Given the description of an element on the screen output the (x, y) to click on. 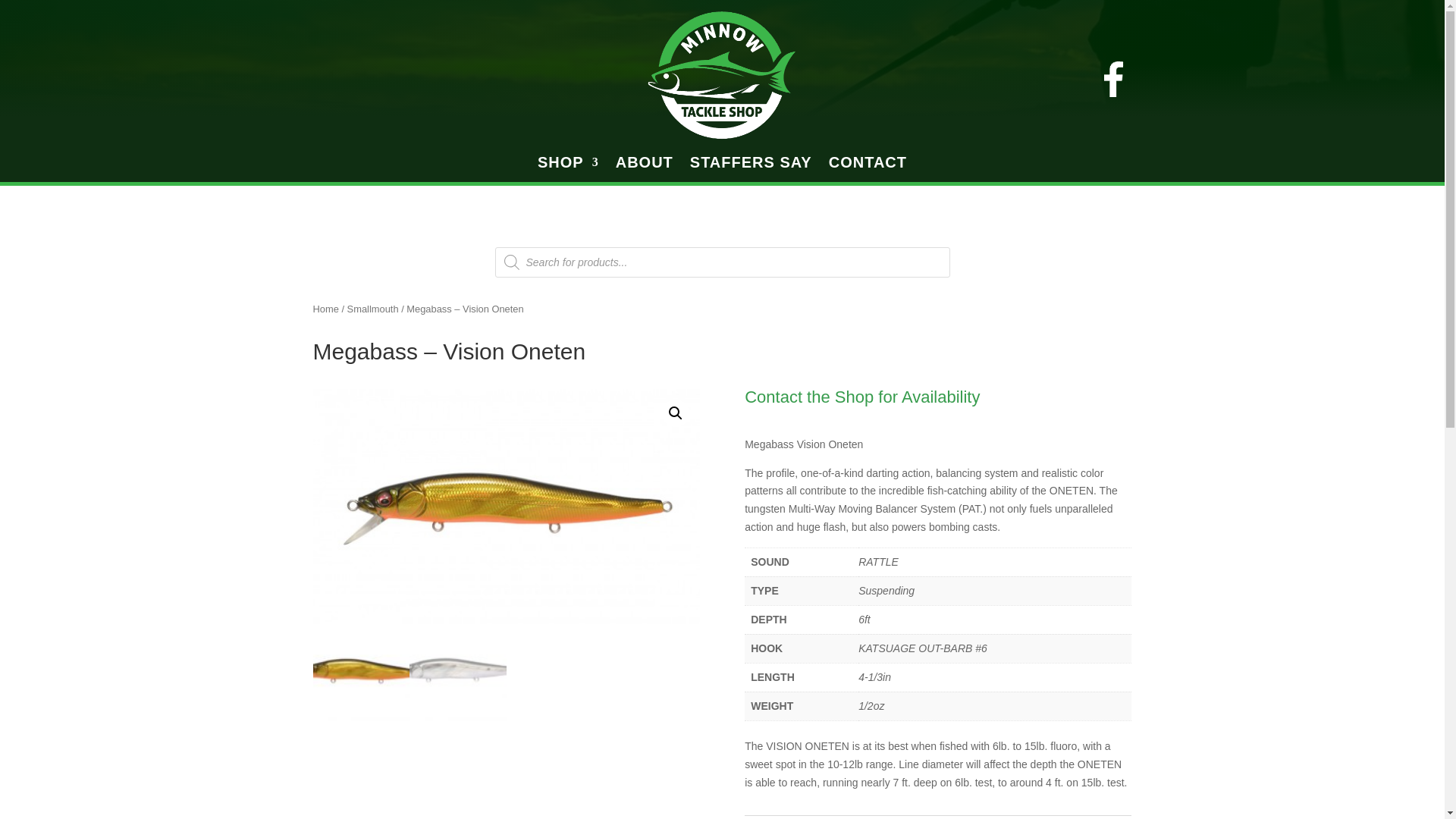
Header-Logo (722, 74)
CONTACT (867, 165)
STAFFERS SAY (751, 165)
VISION-ONETEN-GG-MEGABASS-KINKURO-1 (505, 506)
FB-logo (1113, 79)
ABOUT (643, 165)
Smallmouth (372, 308)
Home (325, 308)
SHOP (567, 165)
